Given the description of an element on the screen output the (x, y) to click on. 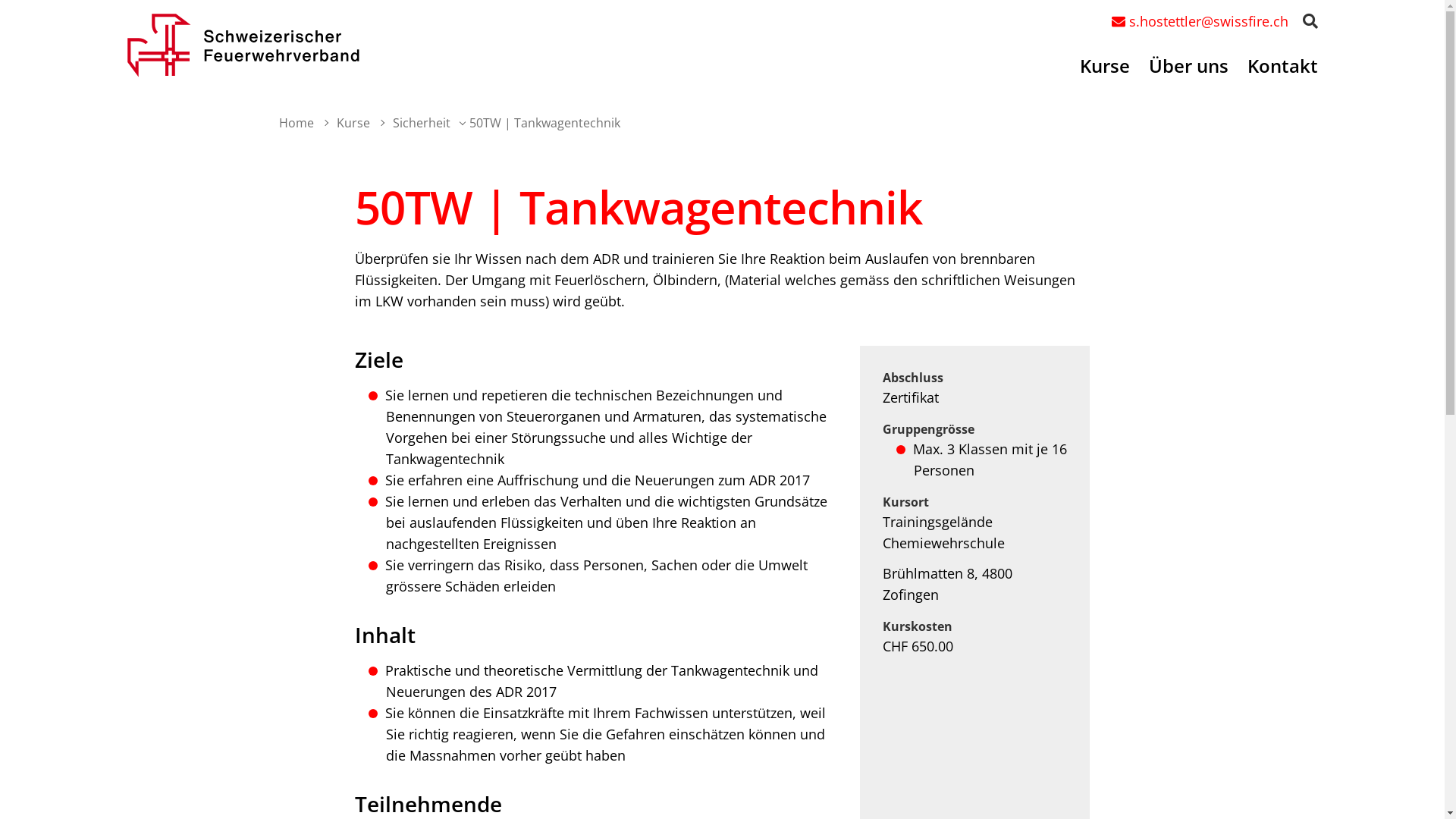
 s.hostettler@swissfire.ch Element type: text (1199, 21)
Sicherheit Element type: text (414, 122)
Kontakt Element type: text (1281, 72)
Kurse Element type: text (1104, 72)
Home Element type: text (296, 122)
Kurse Element type: text (346, 122)
50TW | Tankwagentechnik Element type: text (539, 122)
